Given the description of an element on the screen output the (x, y) to click on. 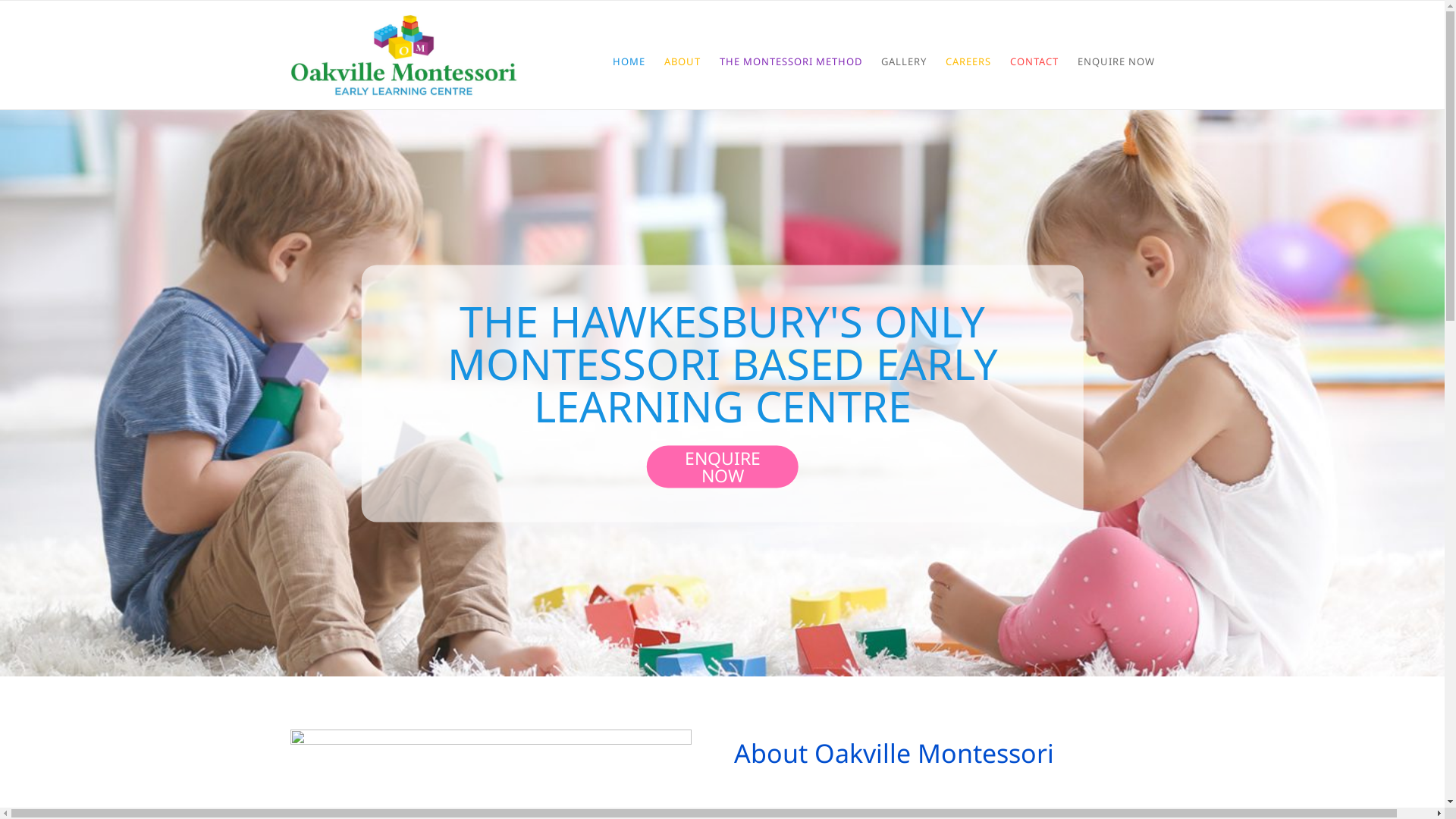
CONTACT Element type: text (1034, 60)
ENQUIRE NOW Element type: text (1115, 60)
CAREERS Element type: text (967, 60)
GALLERY Element type: text (903, 60)
THE MONTESSORI METHOD Element type: text (789, 60)
ABOUT Element type: text (682, 60)
Home Element type: text (403, 54)
HOME Element type: text (628, 60)
banner Element type: hover (722, 392)
ENQUIRE NOW Element type: text (721, 466)
